Given the description of an element on the screen output the (x, y) to click on. 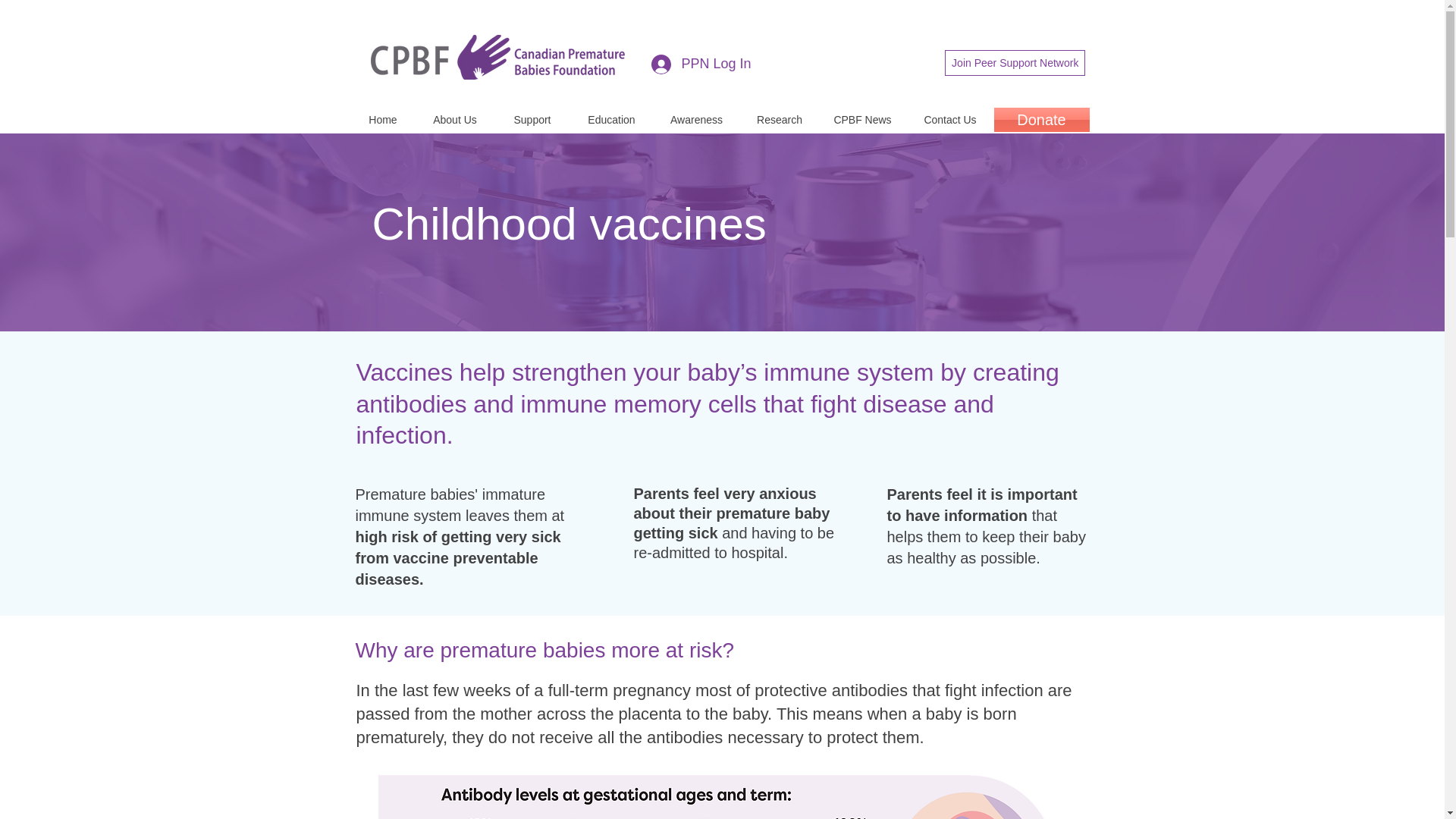
PPN Log In (685, 63)
Contact Us (949, 119)
Support (532, 119)
About Us (454, 119)
Education (611, 119)
CPBF News (861, 119)
Awareness (696, 119)
Home (382, 119)
Research (779, 119)
Donate (1040, 119)
